Given the description of an element on the screen output the (x, y) to click on. 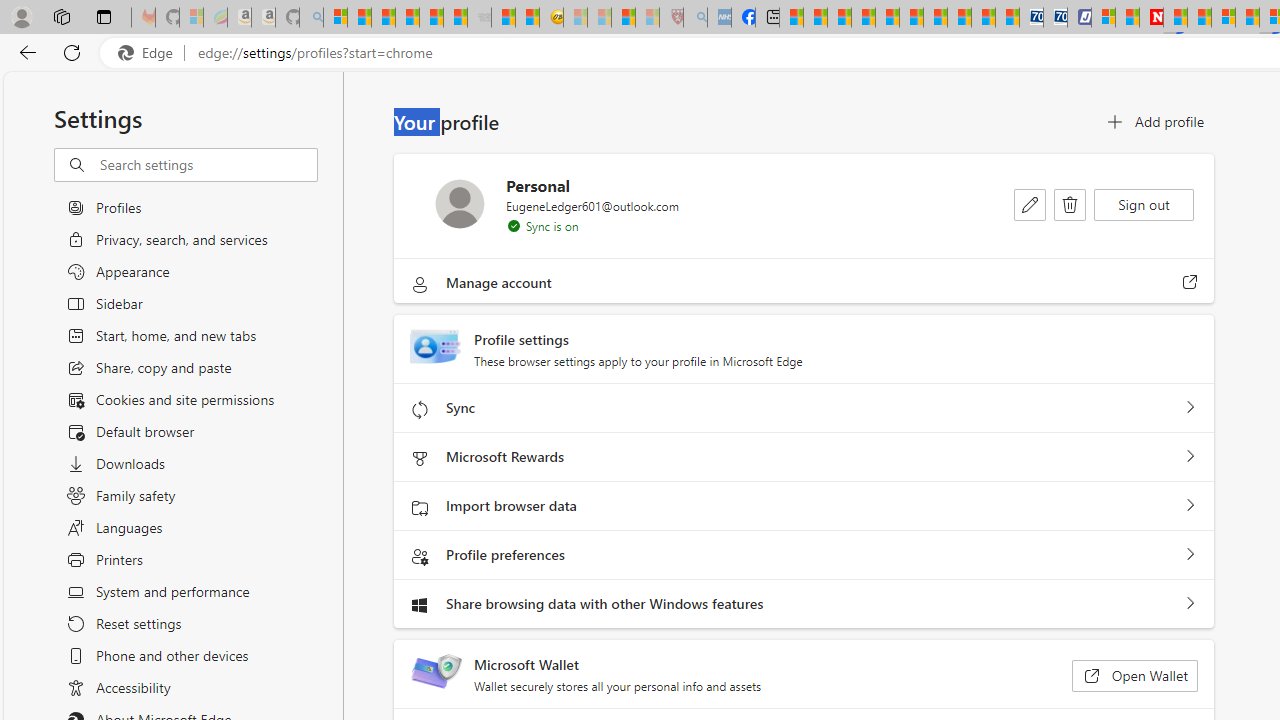
Microsoft Rewards (1190, 457)
Combat Siege - Sleeping (479, 17)
Open Wallet (1134, 675)
Sync (1190, 408)
World - MSN (839, 17)
Add profile (1153, 121)
Stocks - MSN (455, 17)
12 Popular Science Lies that Must be Corrected - Sleeping (647, 17)
Microsoft account | Privacy (1102, 17)
Manage account (1190, 282)
